Given the description of an element on the screen output the (x, y) to click on. 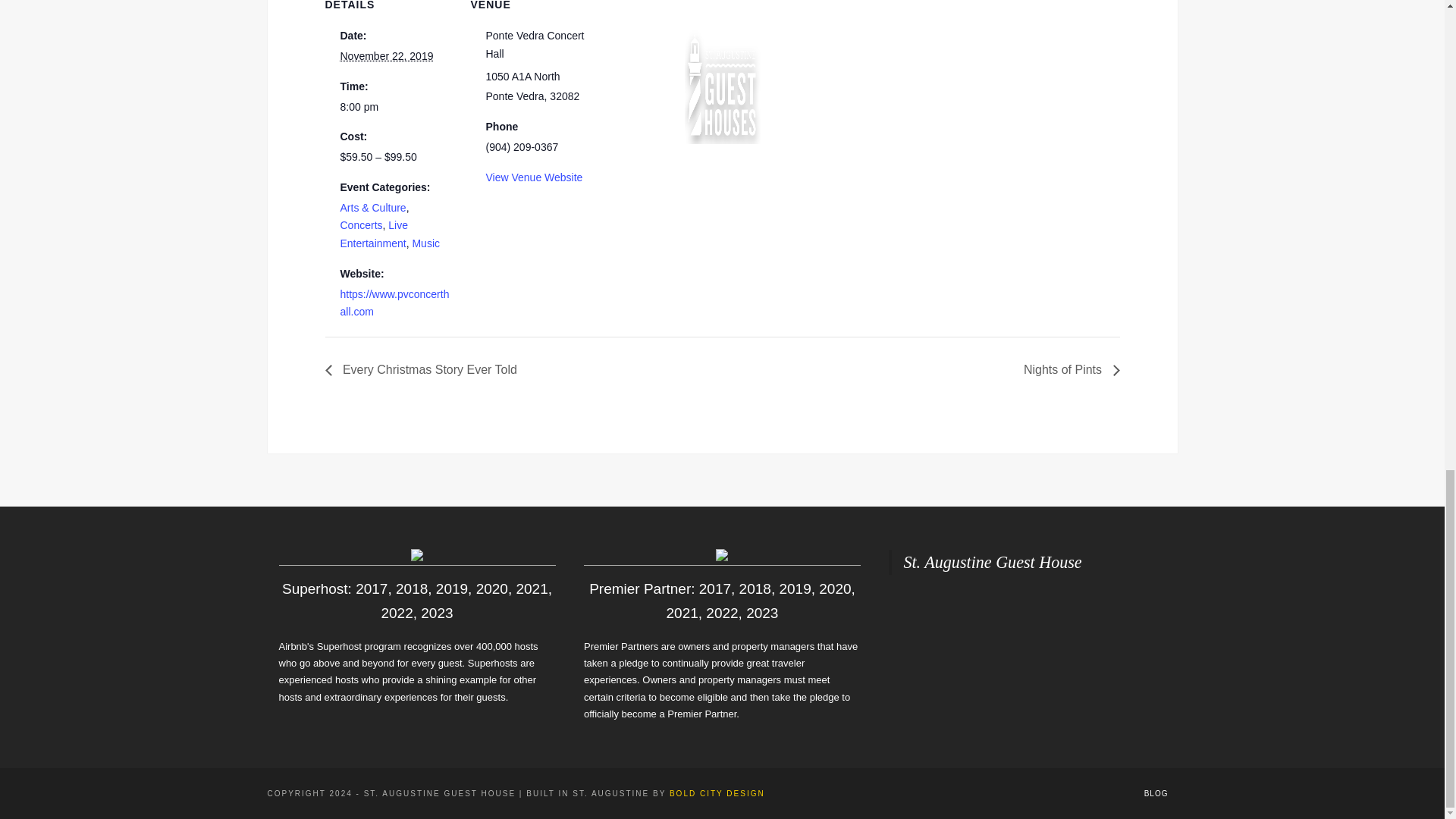
2019-11-22 (395, 107)
Concerts (360, 224)
Nights of Pints (1066, 369)
Every Christmas Story Ever Told (424, 369)
View Venue Website (533, 176)
Live Entertainment (373, 234)
2019-11-22 (385, 55)
Music (425, 243)
